Given the description of an element on the screen output the (x, y) to click on. 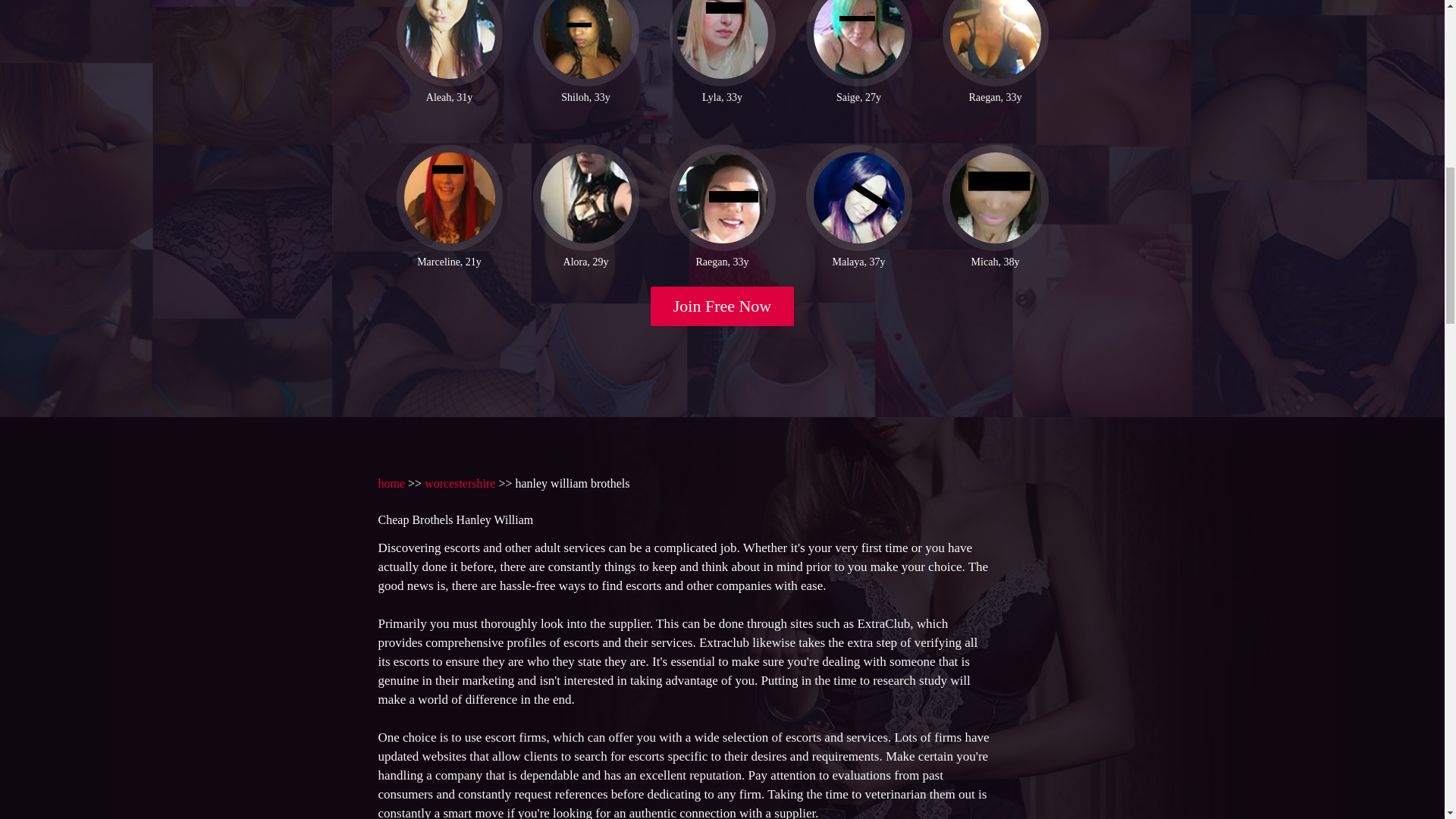
home (390, 482)
Join Free Now (722, 305)
worcestershire (460, 482)
Join (722, 305)
